Given the description of an element on the screen output the (x, y) to click on. 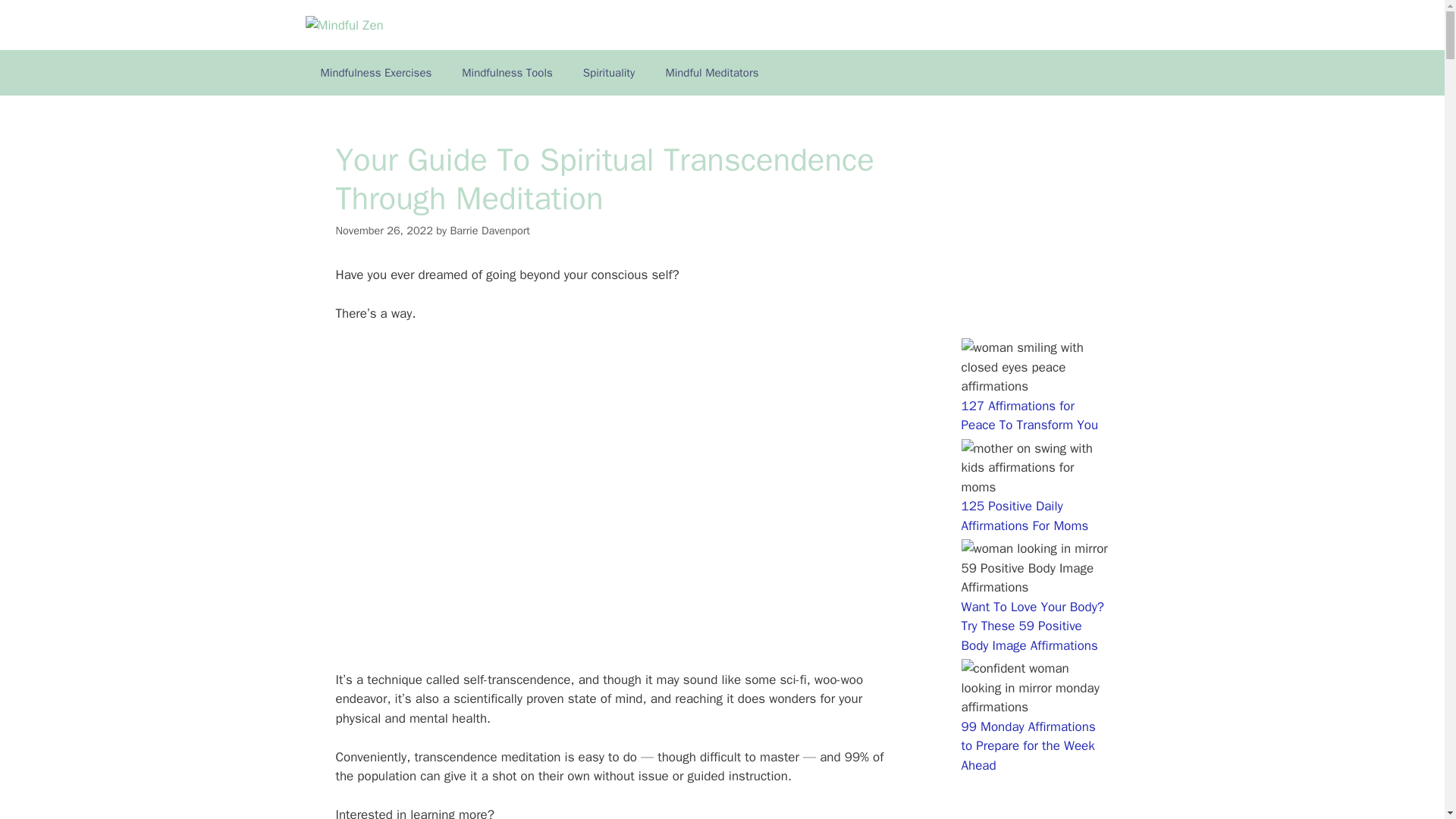
Mindfulness Tools (506, 72)
Spirituality (608, 72)
View all posts by Barrie Davenport (489, 230)
Barrie Davenport (489, 230)
Mindfulness Exercises (375, 72)
Mindful Meditators (711, 72)
